Given the description of an element on the screen output the (x, y) to click on. 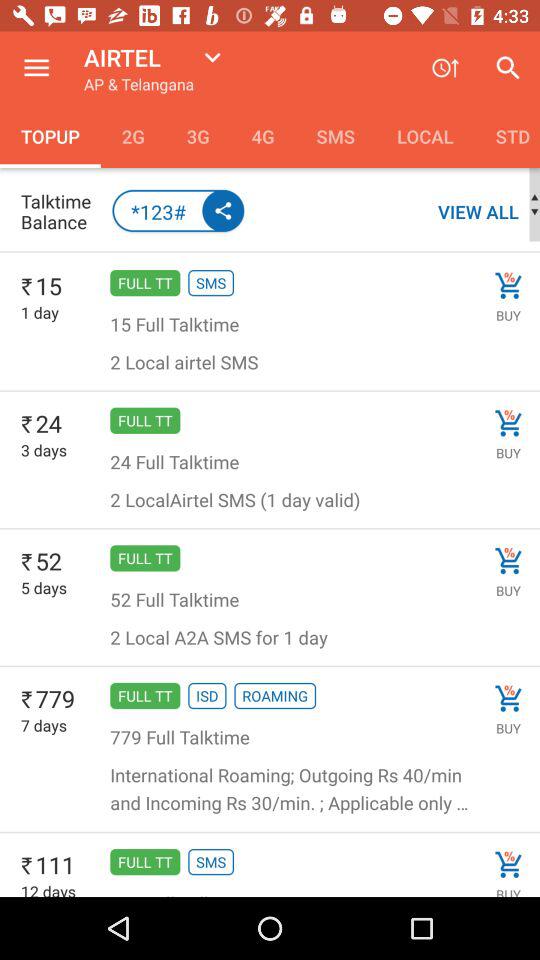
launch the icon next to the full tt item (44, 587)
